Given the description of an element on the screen output the (x, y) to click on. 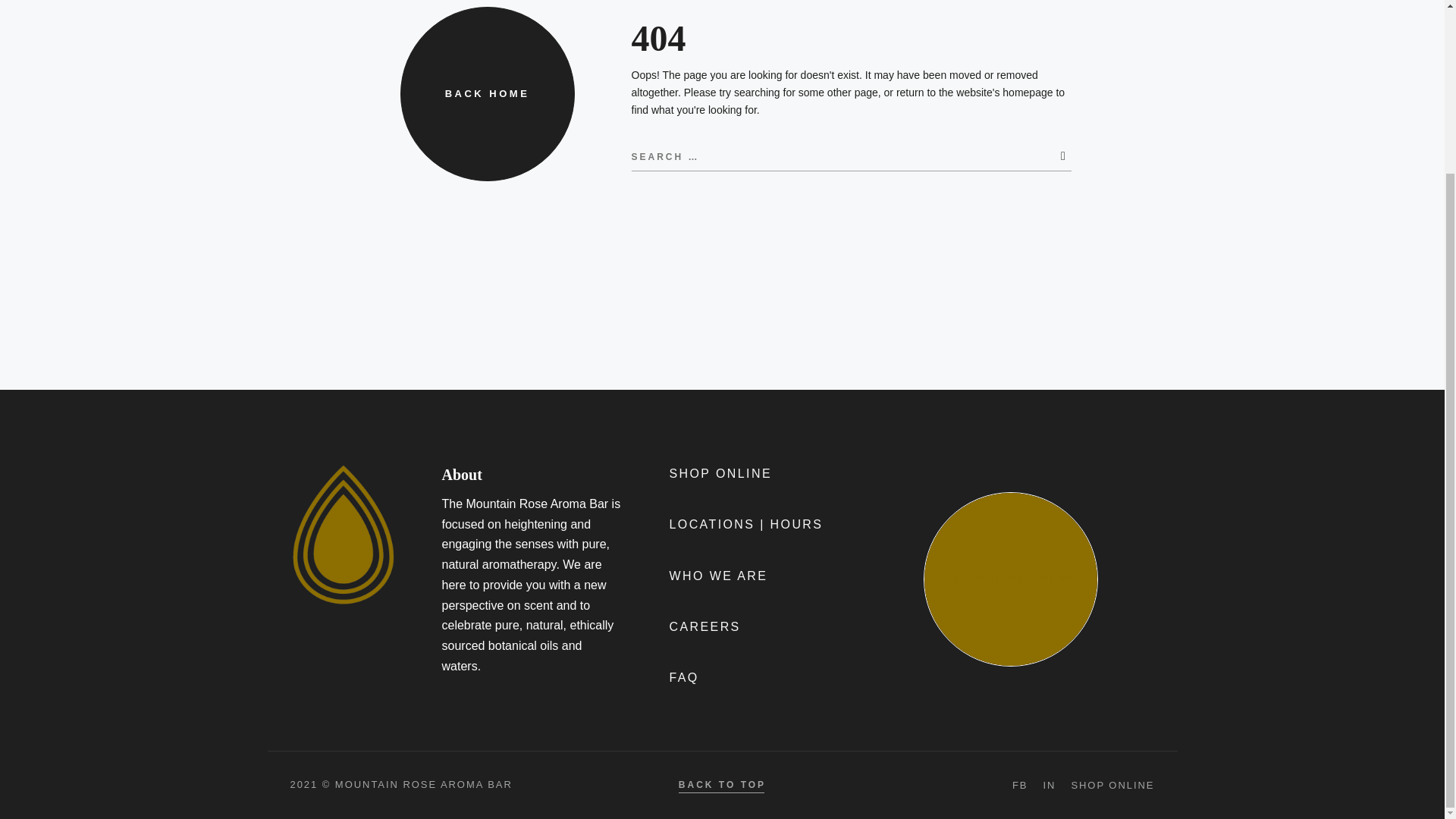
FAQ (683, 678)
SHOP ONLINE (719, 475)
EXPLORE OUR BLOG (1010, 579)
WHO WE ARE (717, 577)
CAREERS (703, 628)
BACK HOME (487, 93)
SHOP ONLINE (1112, 784)
IN (1048, 784)
FB (1019, 784)
